Given the description of an element on the screen output the (x, y) to click on. 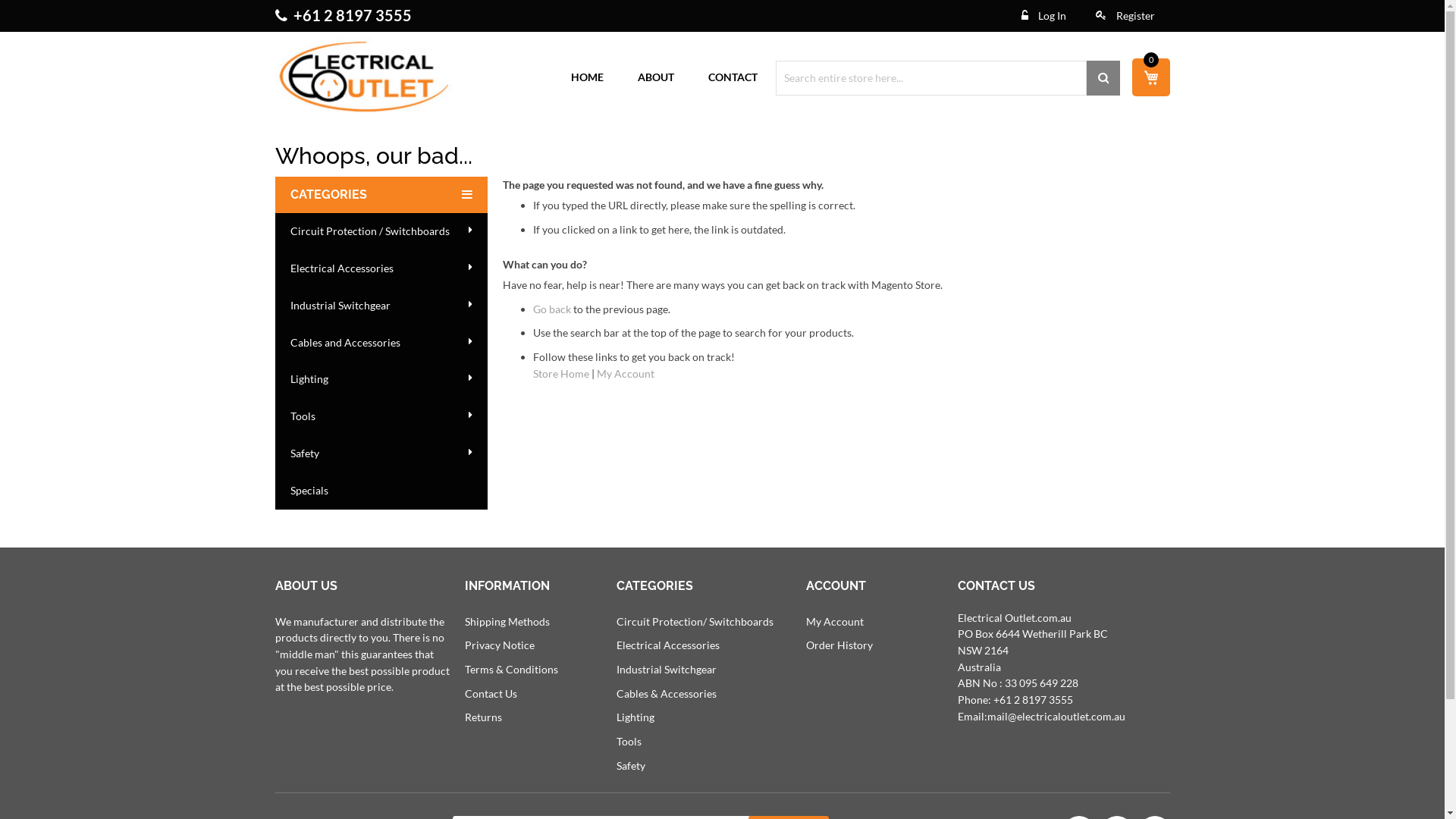
Terms & Conditions Element type: text (510, 668)
Cables & Accessories Element type: text (665, 693)
Specials Element type: text (380, 490)
Log In Element type: text (1042, 15)
Email:mail@electricaloutlet.com.au Element type: text (1040, 715)
Circuit Protection/ Switchboards Element type: text (693, 621)
Circuit Protection / Switchboards Element type: text (380, 231)
Go back Element type: text (551, 308)
Industrial Switchgear Element type: text (380, 305)
Tools Element type: text (380, 416)
+61 2 8197 3555 Element type: text (351, 15)
My Account Element type: text (833, 621)
Privacy Notice Element type: text (498, 644)
Store Home Element type: text (560, 373)
My Cart
0 Element type: text (1150, 77)
Safety Element type: text (629, 765)
Lighting Element type: text (380, 379)
My Account Element type: text (624, 373)
Contact Us Element type: text (490, 693)
Electrical Accessories Element type: text (666, 644)
Cables and Accessories Element type: text (380, 342)
Industrial Switchgear Element type: text (665, 668)
Safety Element type: text (380, 453)
Register Element type: text (1124, 15)
Tools Element type: text (627, 740)
Lighting Element type: text (634, 716)
Order History Element type: text (838, 644)
 ABOUT Element type: text (653, 77)
 HOME Element type: text (585, 77)
Returns Element type: text (482, 716)
Shipping Methods Element type: text (506, 621)
SEARCH Element type: text (1102, 77)
 CONTACT Element type: text (731, 77)
Electrical Accessories Element type: text (380, 268)
Electrical Outlet.com.au Element type: hover (363, 76)
